Given the description of an element on the screen output the (x, y) to click on. 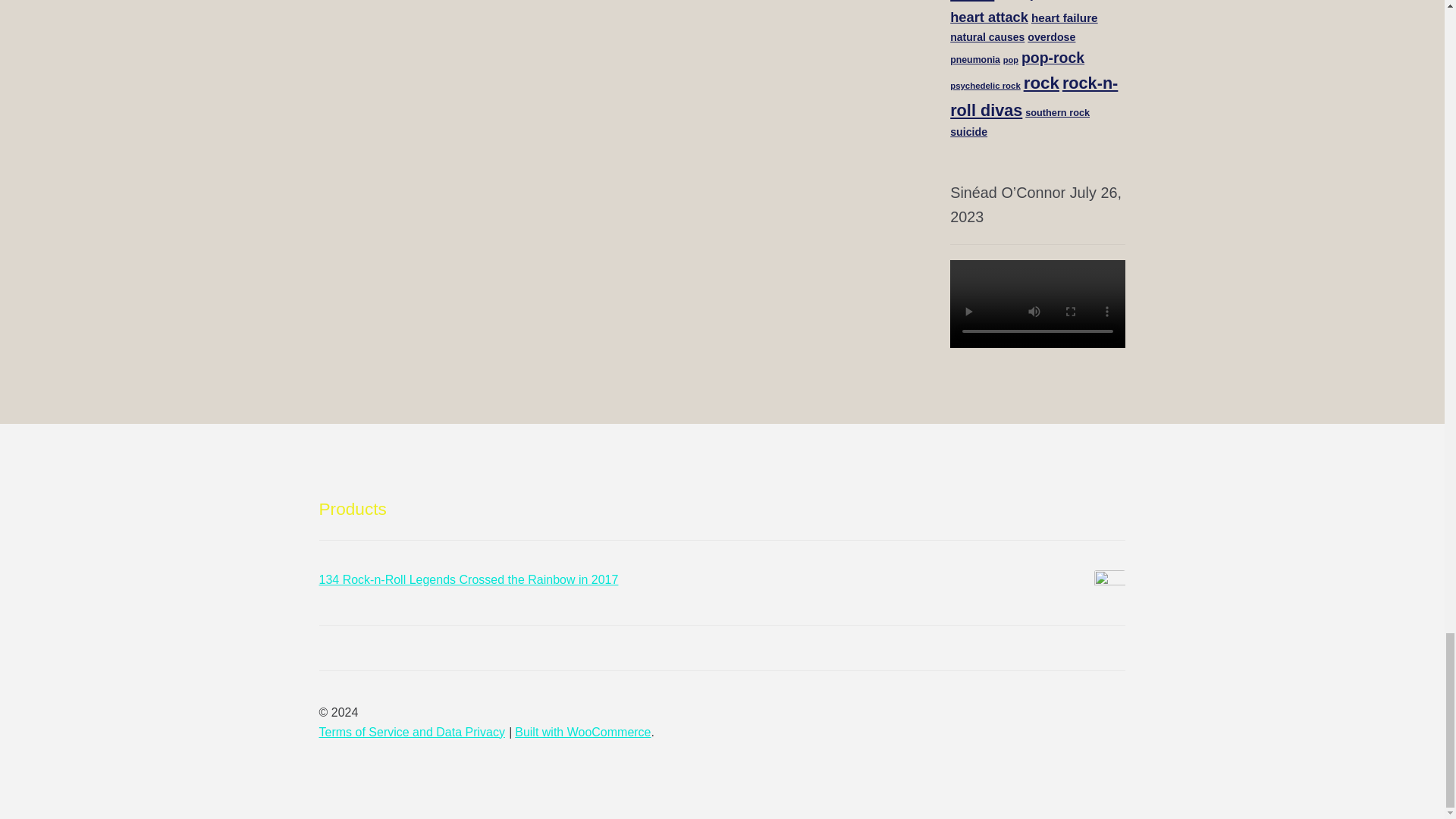
WooCommerce - The Best eCommerce Platform for WordPress (582, 731)
